Given the description of an element on the screen output the (x, y) to click on. 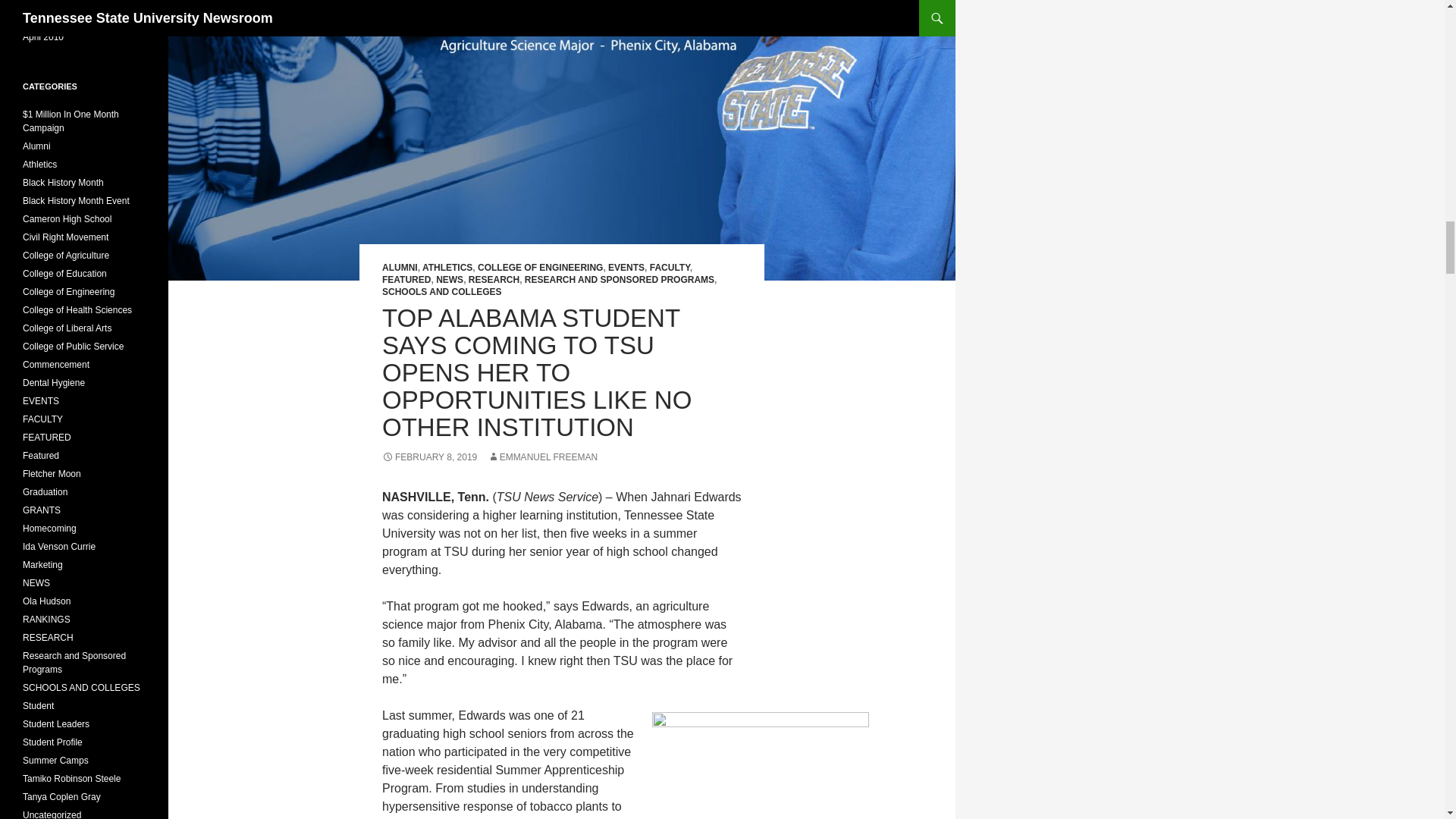
RESEARCH AND SPONSORED PROGRAMS (619, 279)
SCHOOLS AND COLLEGES (441, 291)
FACULTY (669, 267)
NEWS (449, 279)
ALUMNI (399, 267)
ATHLETICS (446, 267)
FEATURED (405, 279)
EVENTS (626, 267)
RESEARCH (493, 279)
COLLEGE OF ENGINEERING (539, 267)
